Given the description of an element on the screen output the (x, y) to click on. 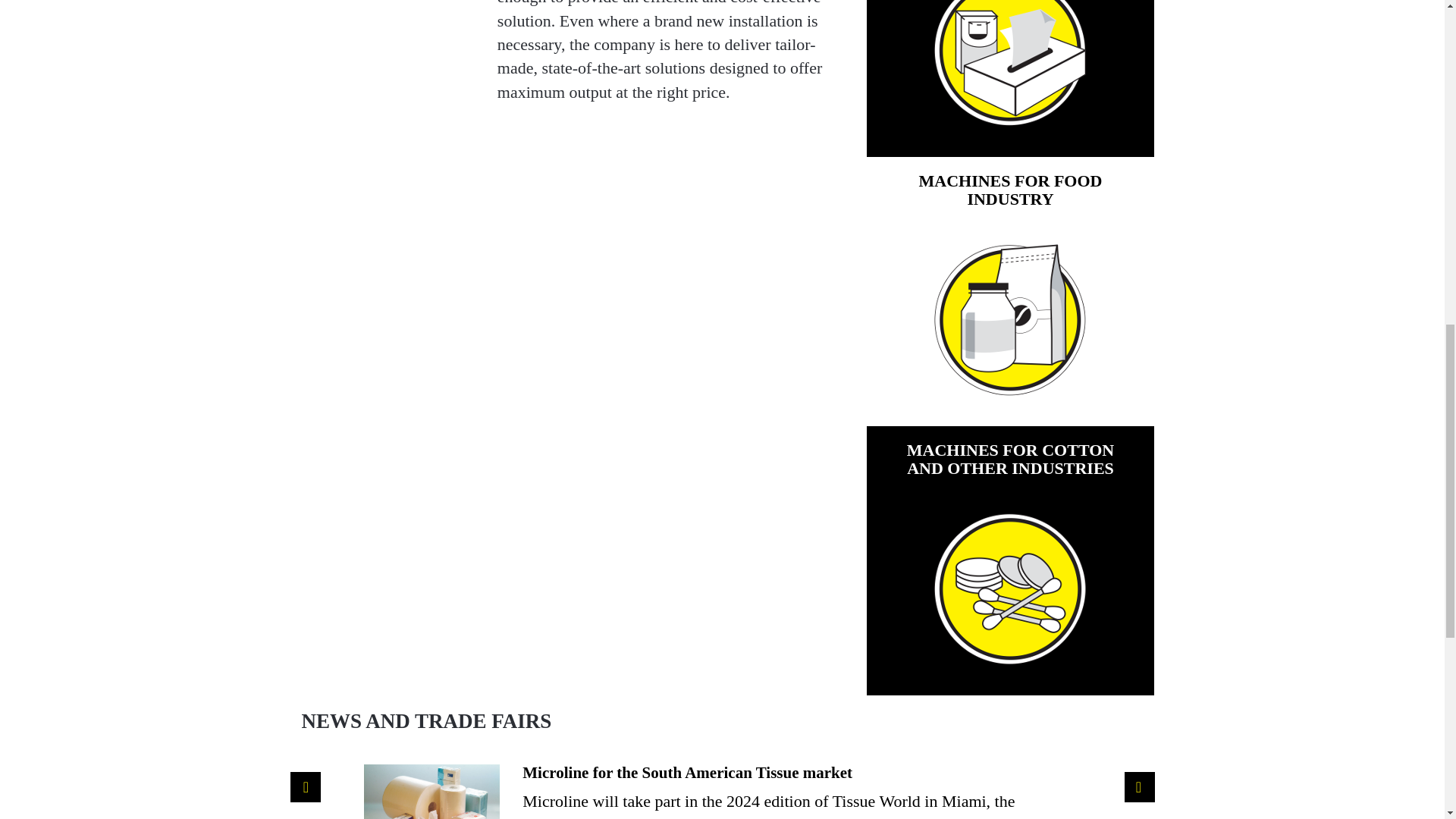
MICROLINE: MACHINES FOR FOOD INDUSTRY (1010, 319)
MICROLINE: MACHINES FOR COTTON AND OTHER INDUSTRIES (1010, 589)
